Given the description of an element on the screen output the (x, y) to click on. 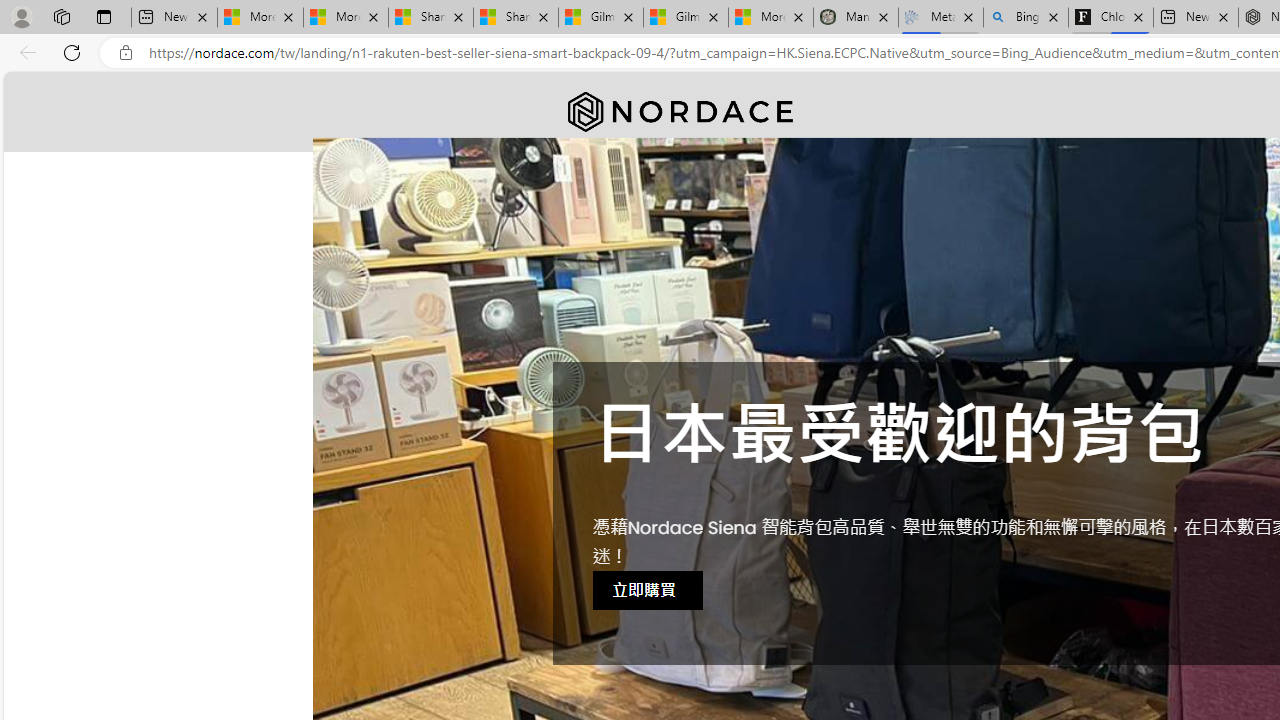
Manatee Mortality Statistics | FWC (856, 17)
Gilma and Hector both pose tropical trouble for Hawaii (685, 17)
Chloe Sorvino (1110, 17)
Bing Real Estate - Home sales and rental listings (1025, 17)
